Given the description of an element on the screen output the (x, y) to click on. 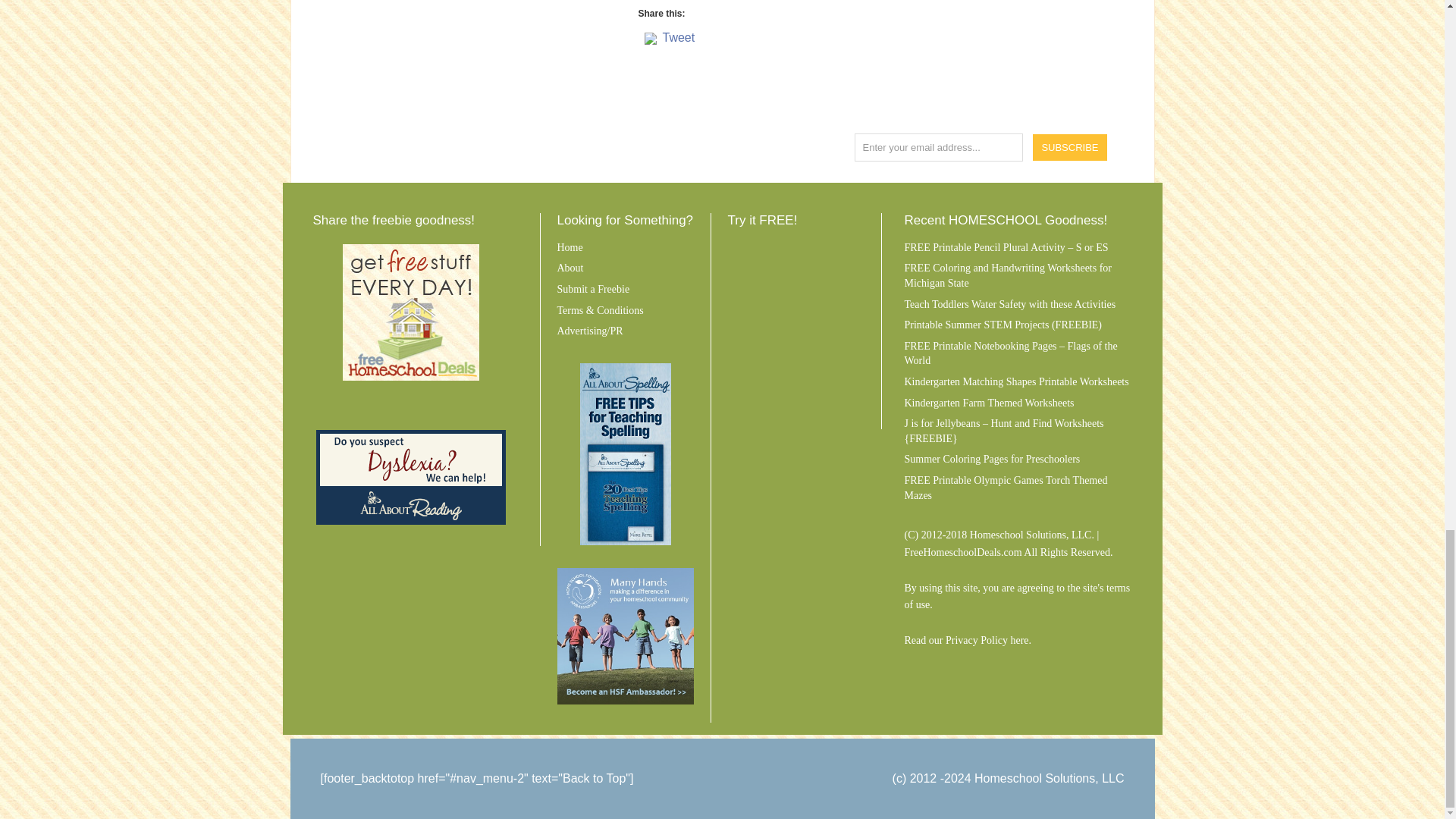
Free Homeschool Deals (410, 312)
Subscribe (1070, 147)
